Given the description of an element on the screen output the (x, y) to click on. 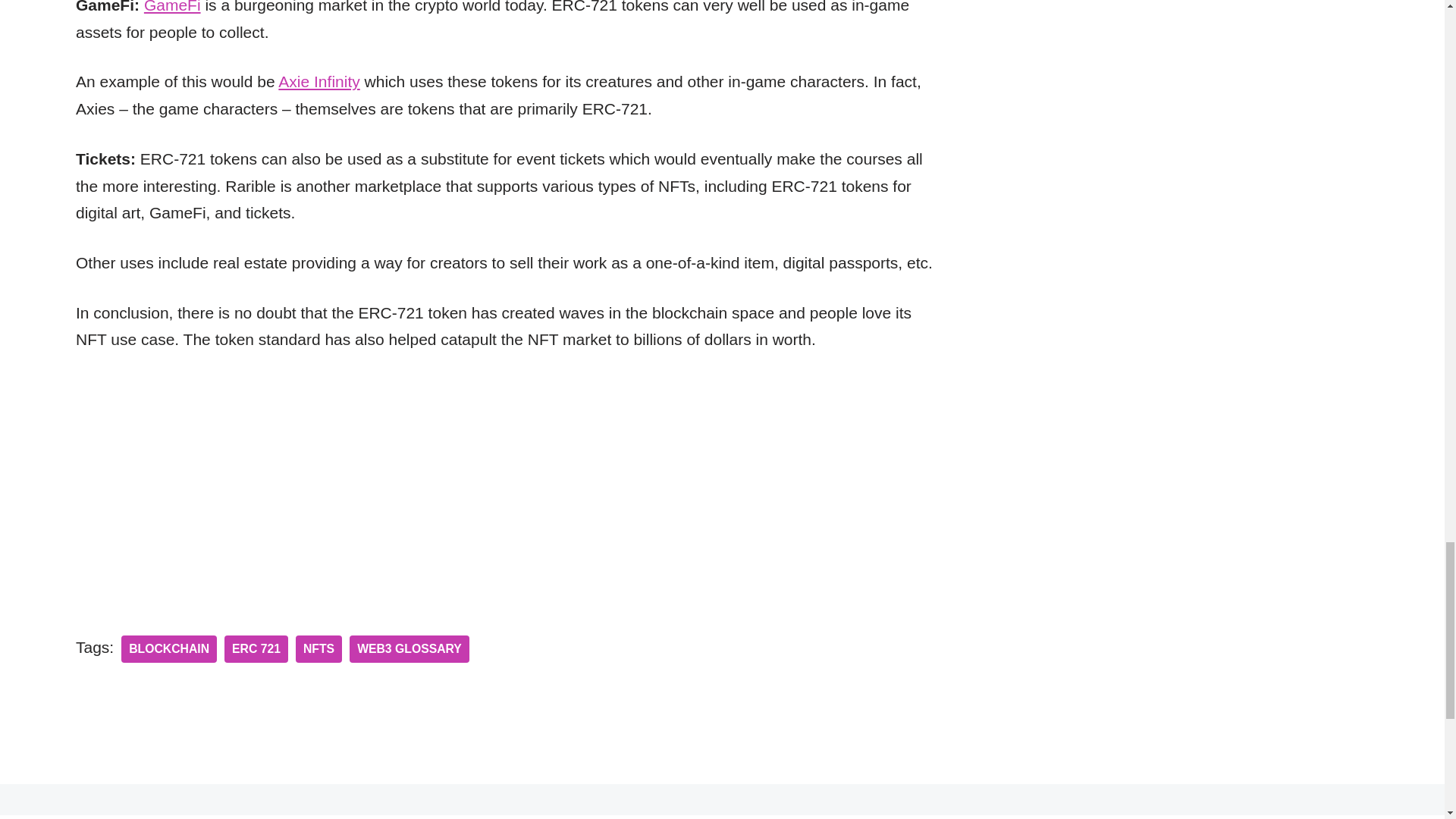
WEB3 GLOSSARY (408, 648)
blockchain (168, 648)
Axie Infinity (318, 81)
ERC 721 (256, 648)
nfts (318, 648)
BLOCKCHAIN (168, 648)
GameFi (172, 6)
NFTS (318, 648)
web3 glossary (408, 648)
